Given the description of an element on the screen output the (x, y) to click on. 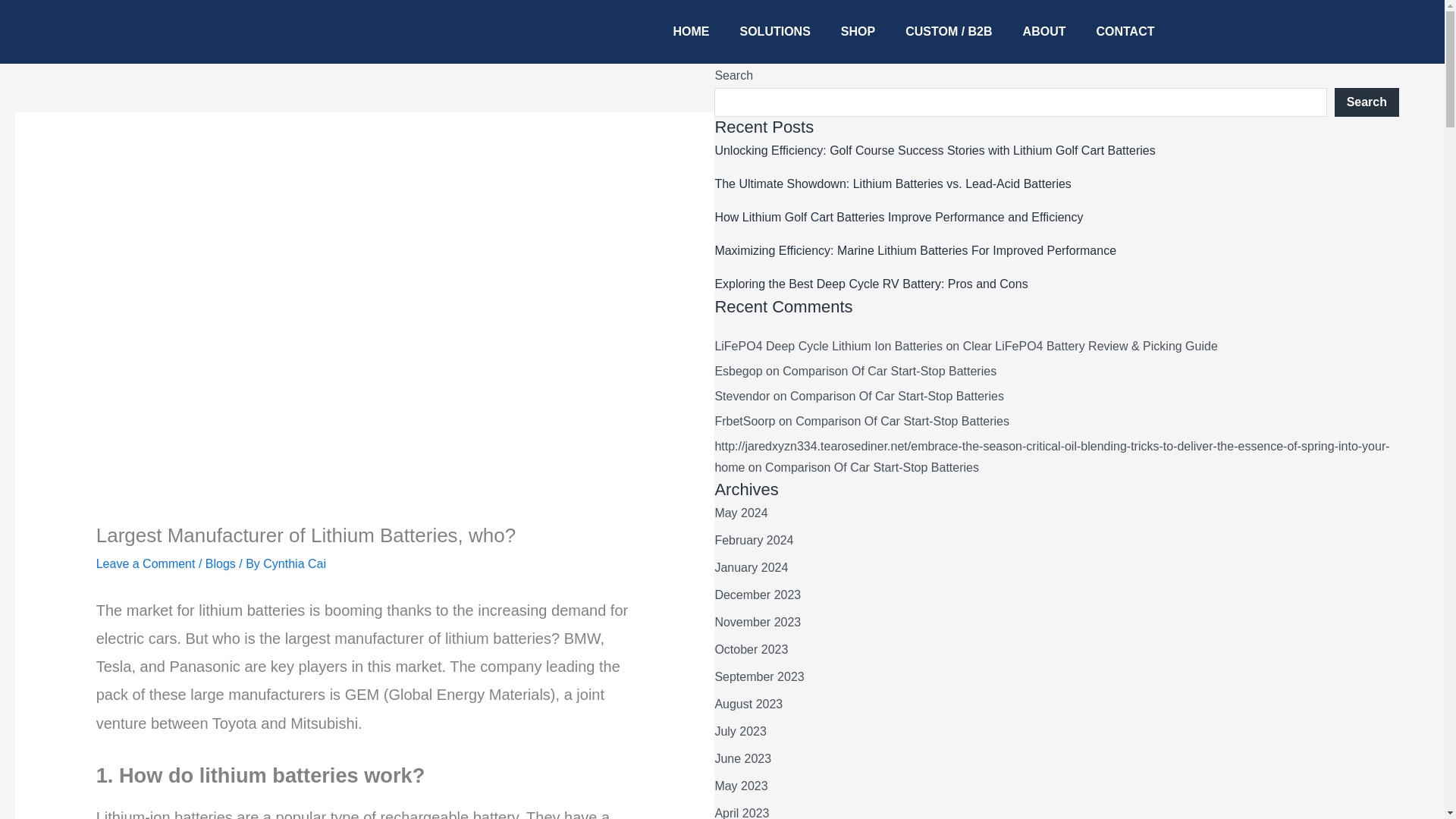
CONTACT (1124, 31)
SOLUTIONS (775, 31)
ABOUT (1044, 31)
SHOP (857, 31)
HOME (691, 31)
View all posts by Cynthia Cai (294, 563)
